Given the description of an element on the screen output the (x, y) to click on. 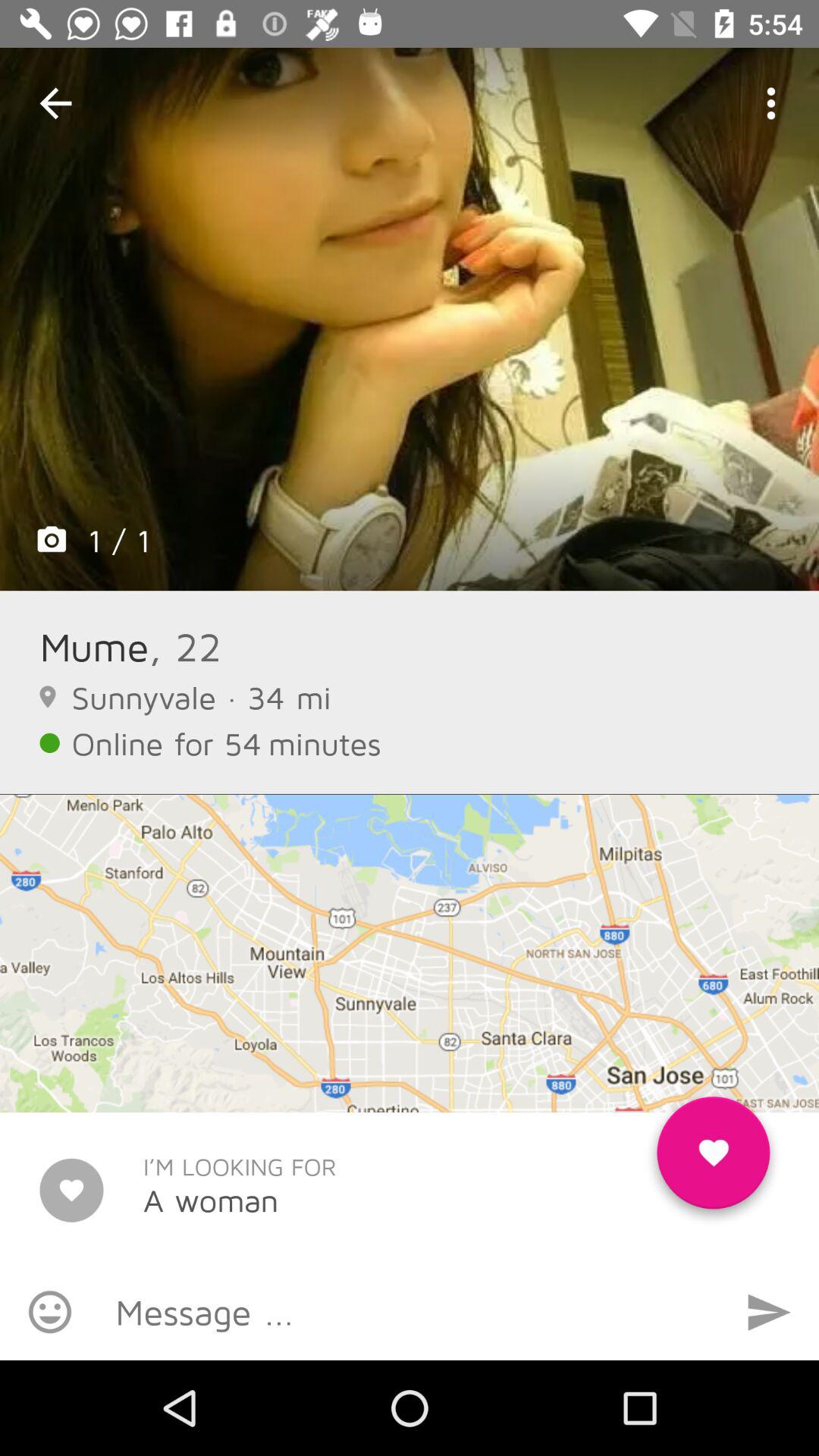
full screen photo (409, 318)
